Given the description of an element on the screen output the (x, y) to click on. 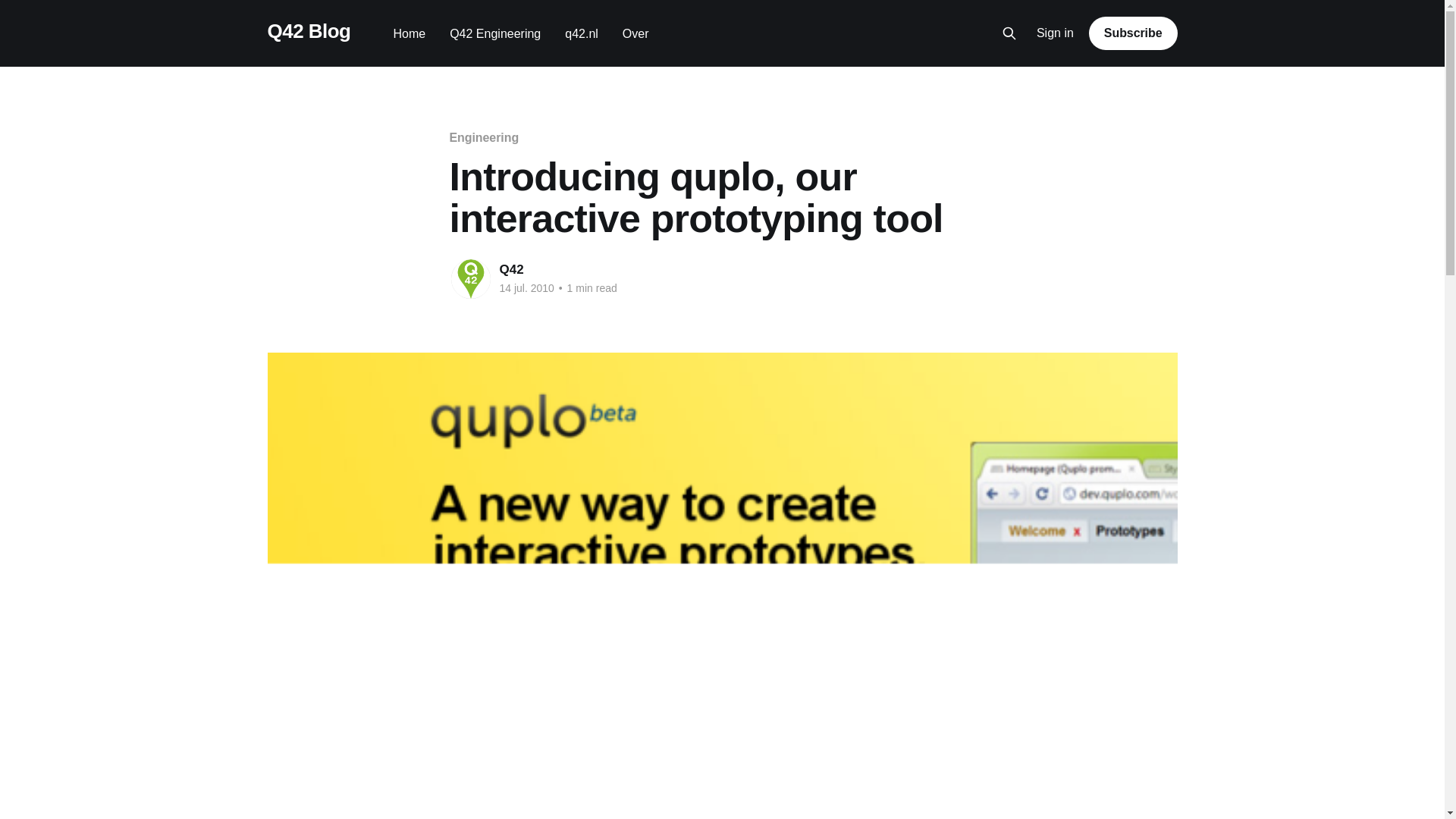
Subscribe (1133, 32)
q42.nl (581, 33)
Q42 (510, 269)
Over (636, 33)
Engineering (483, 137)
Home (409, 33)
Sign in (1055, 33)
Q42 Blog (308, 31)
Q42 Engineering (494, 33)
